Given the description of an element on the screen output the (x, y) to click on. 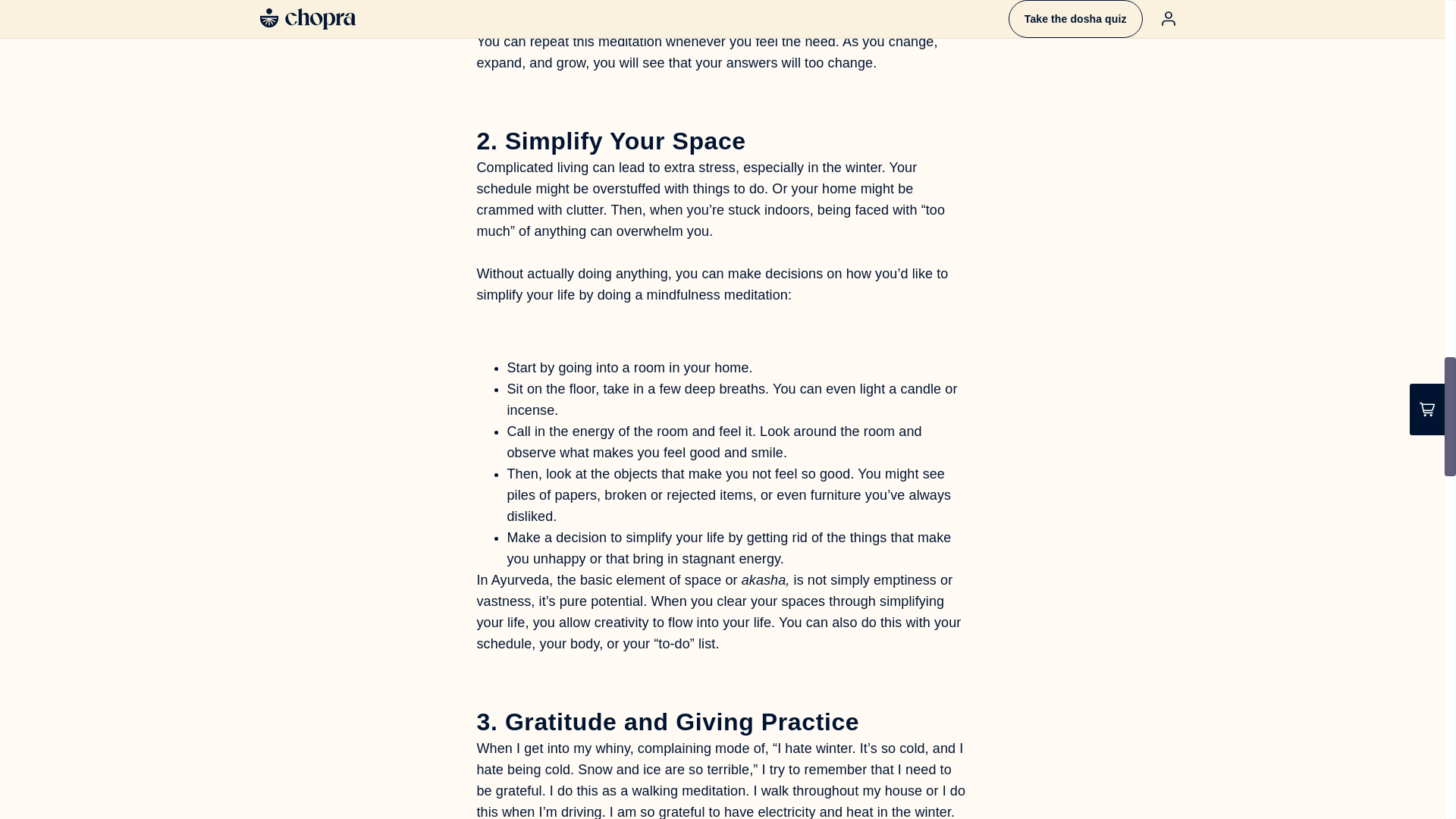
basic element of space (649, 580)
mindfulness meditation (716, 294)
